Given the description of an element on the screen output the (x, y) to click on. 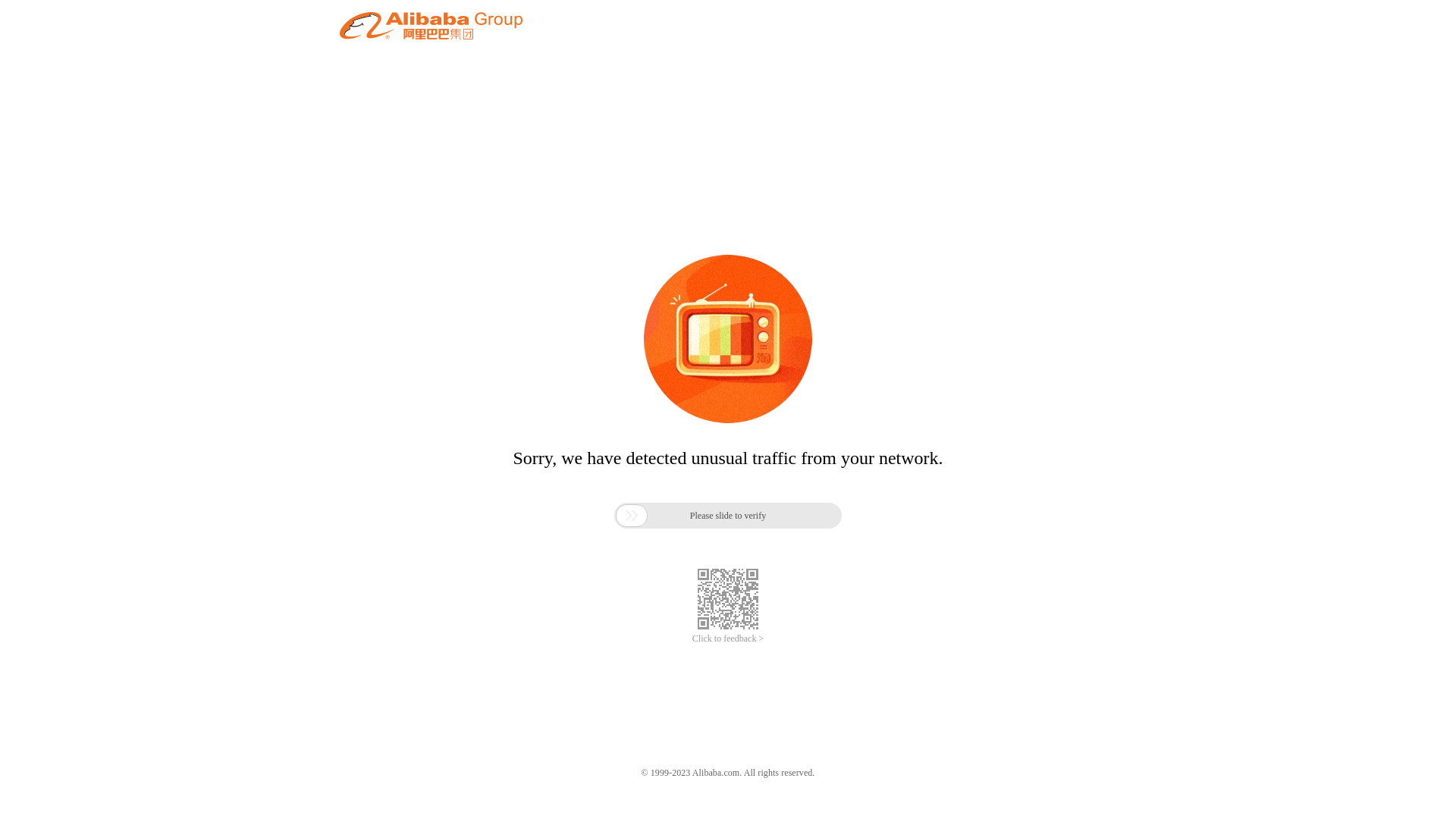
Click to feedback > Element type: text (727, 638)
